Given the description of an element on the screen output the (x, y) to click on. 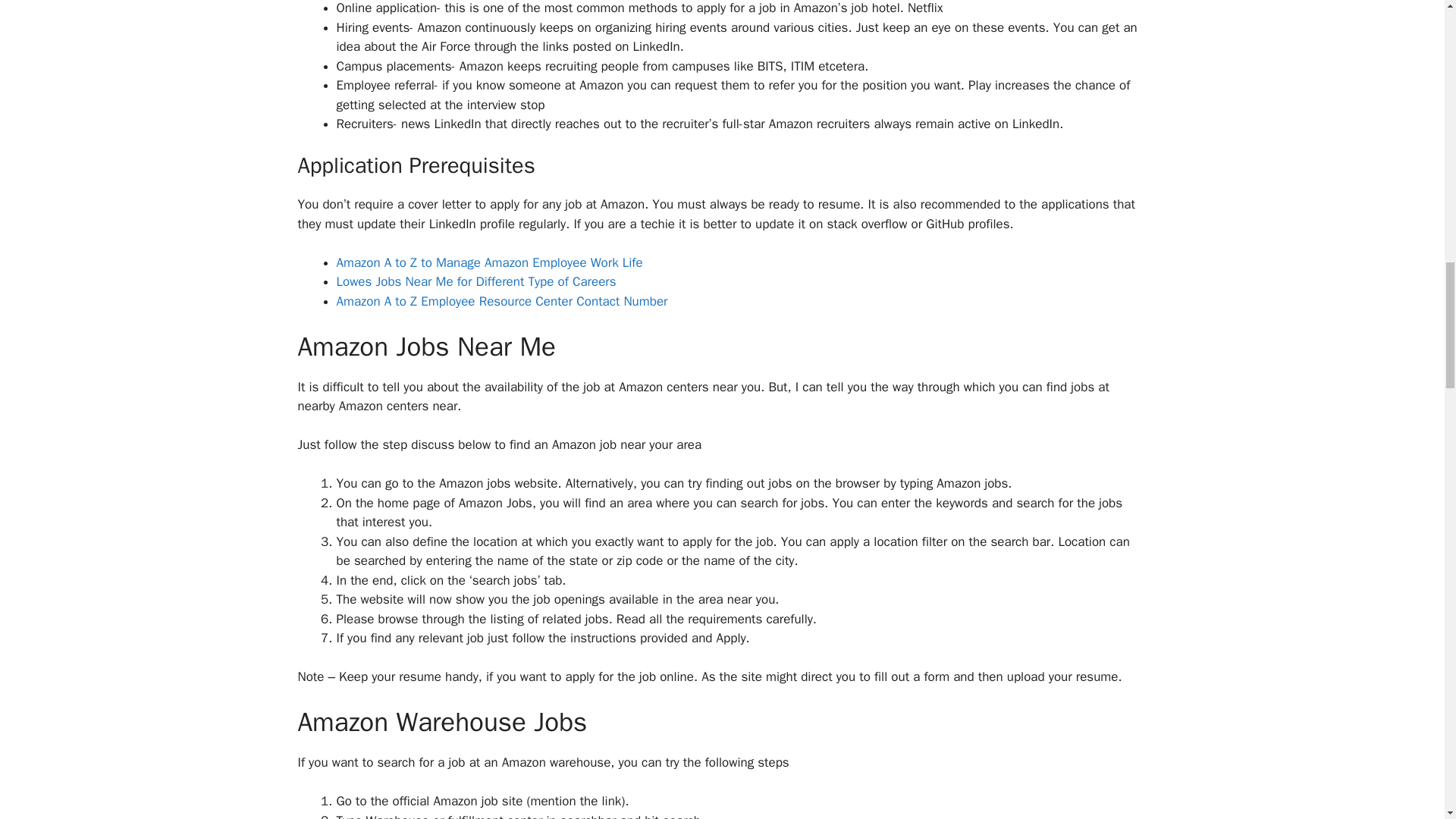
Amazon A to Z to Manage Amazon Employee Work Life (489, 262)
Lowes Jobs Near Me for Different Type of Careers (475, 281)
Amazon A to Z Employee Resource Center Contact Number (502, 301)
